Given the description of an element on the screen output the (x, y) to click on. 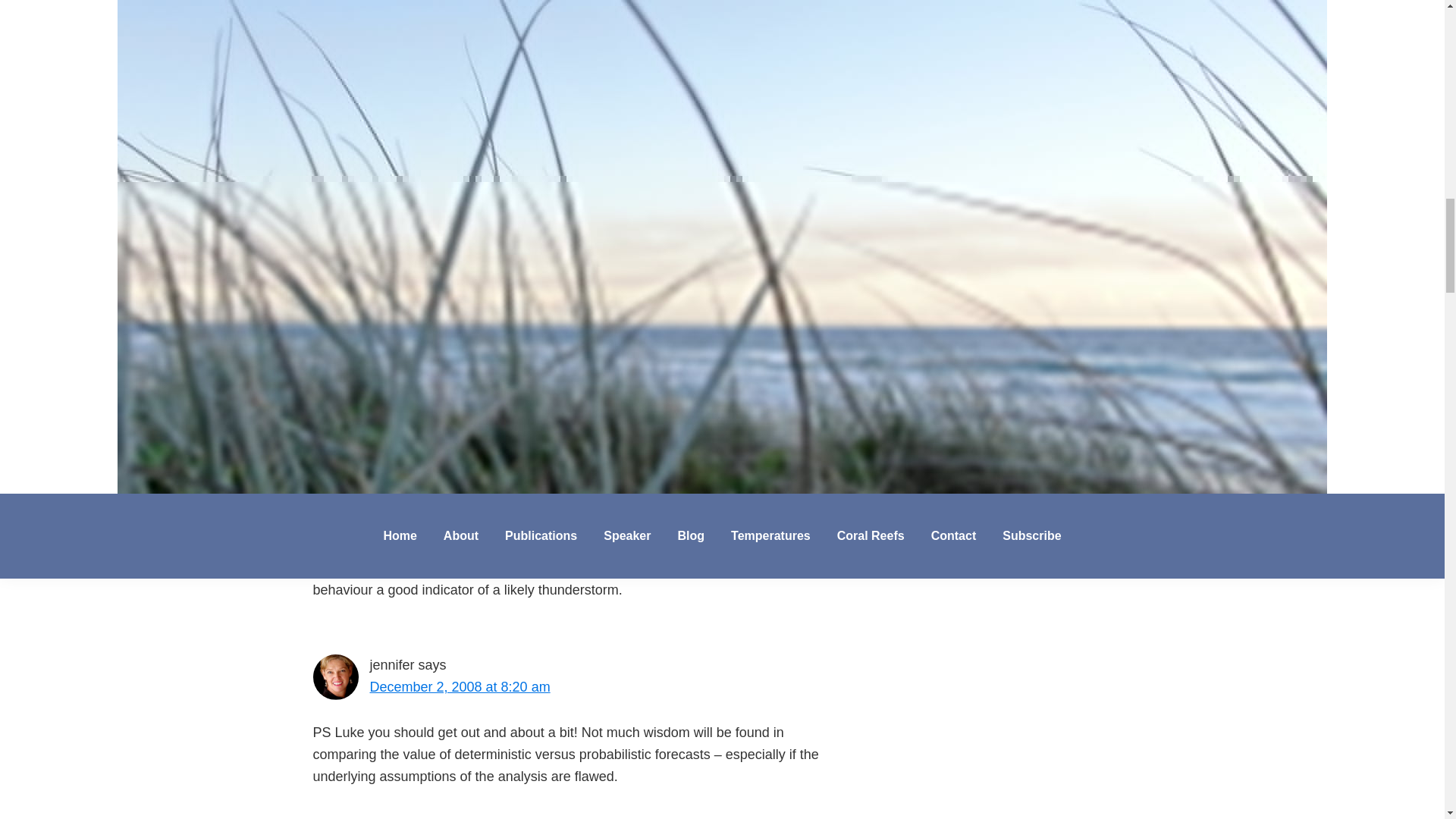
December 2, 2008 at 8:17 am (459, 43)
December 2, 2008 at 8:20 am (459, 686)
December 2, 2008 at 8:18 am (459, 522)
